Given the description of an element on the screen output the (x, y) to click on. 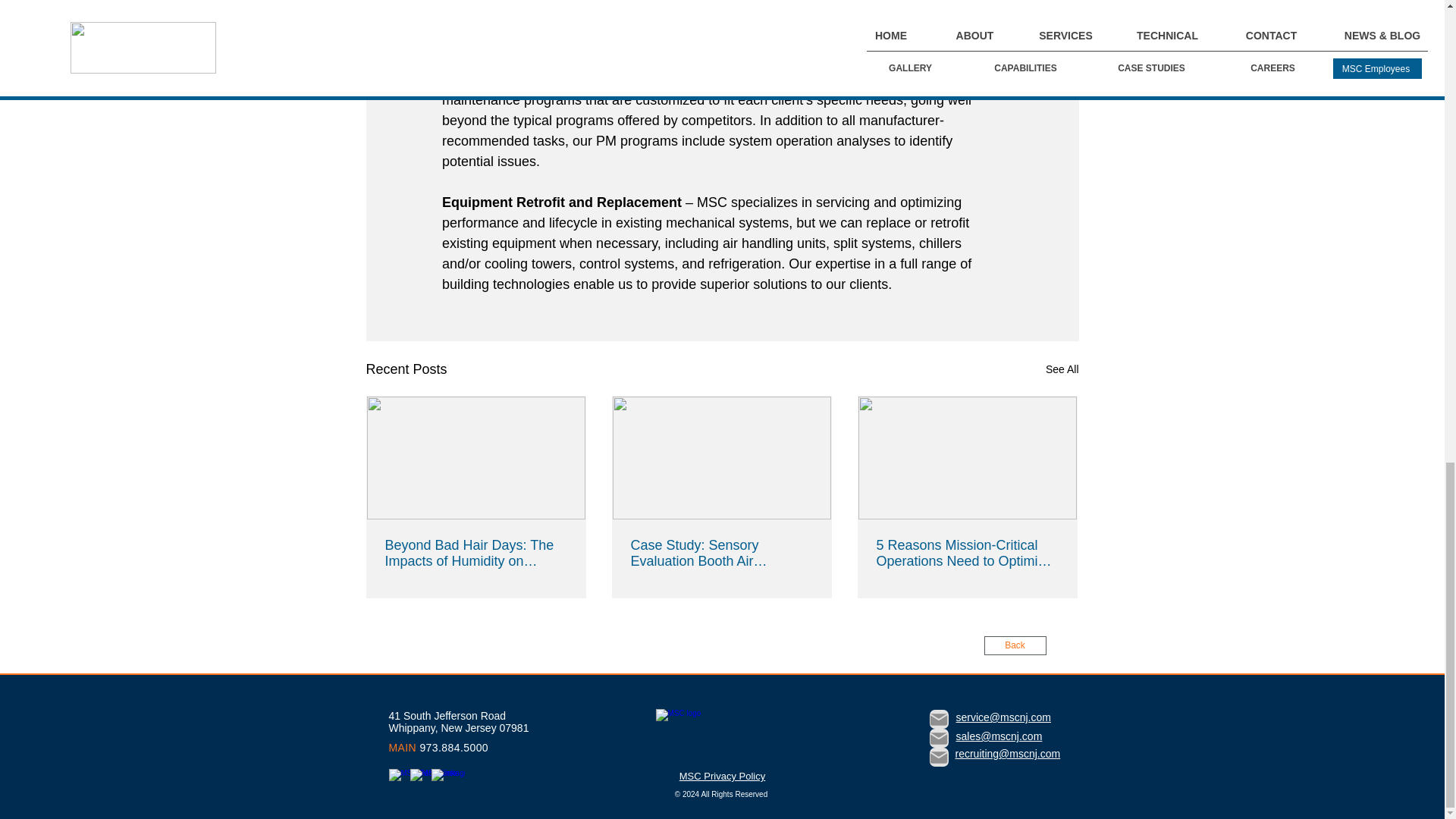
MSC Privacy Policy (722, 776)
See All (1061, 369)
Back (1015, 645)
